Given the description of an element on the screen output the (x, y) to click on. 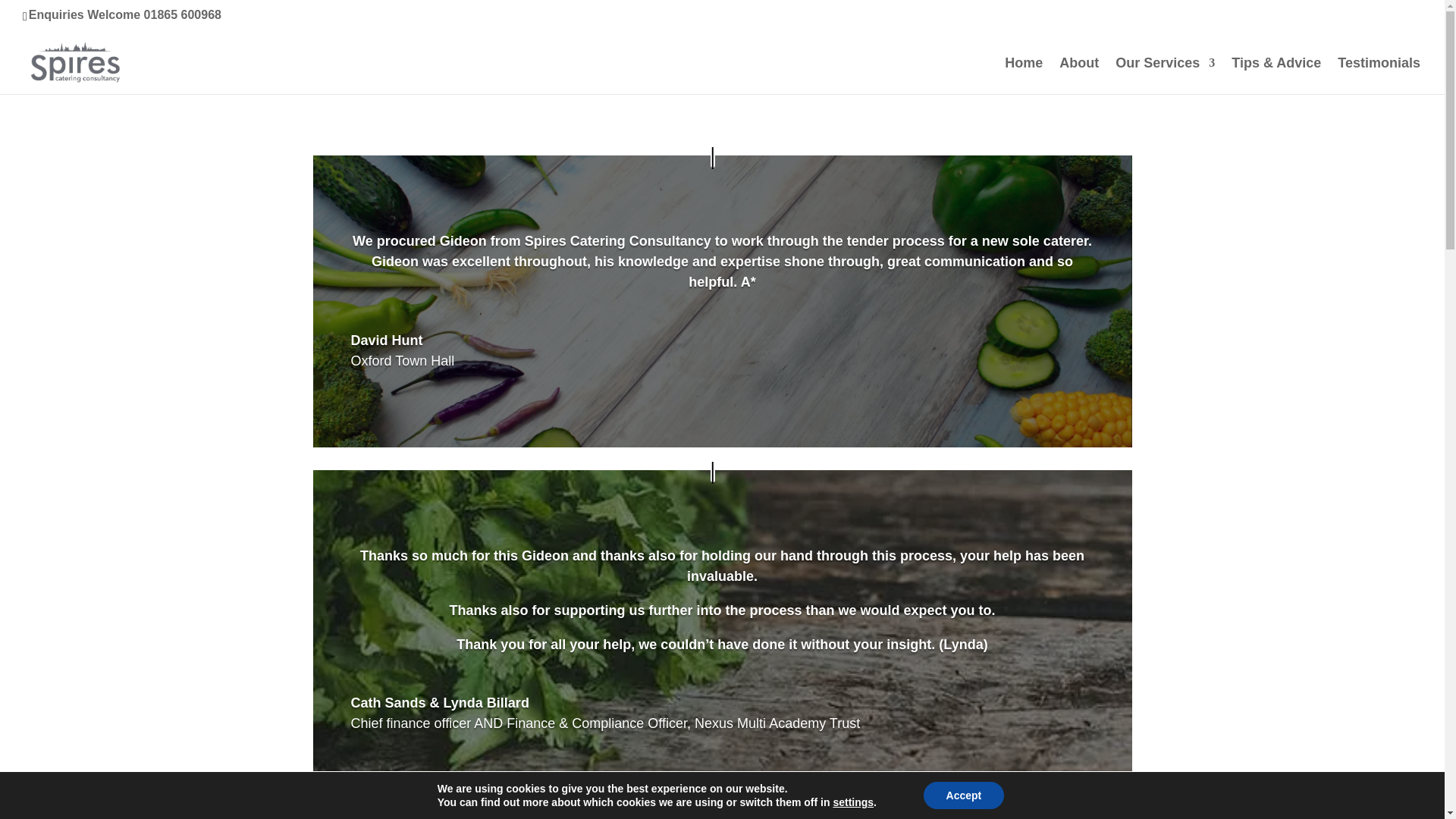
settings (852, 802)
Accept (963, 795)
Testimonials (1379, 75)
Home (1023, 75)
About (1079, 75)
Our Services (1164, 75)
Enquiries Welcome 01865 600968 (125, 14)
